Given the description of an element on the screen output the (x, y) to click on. 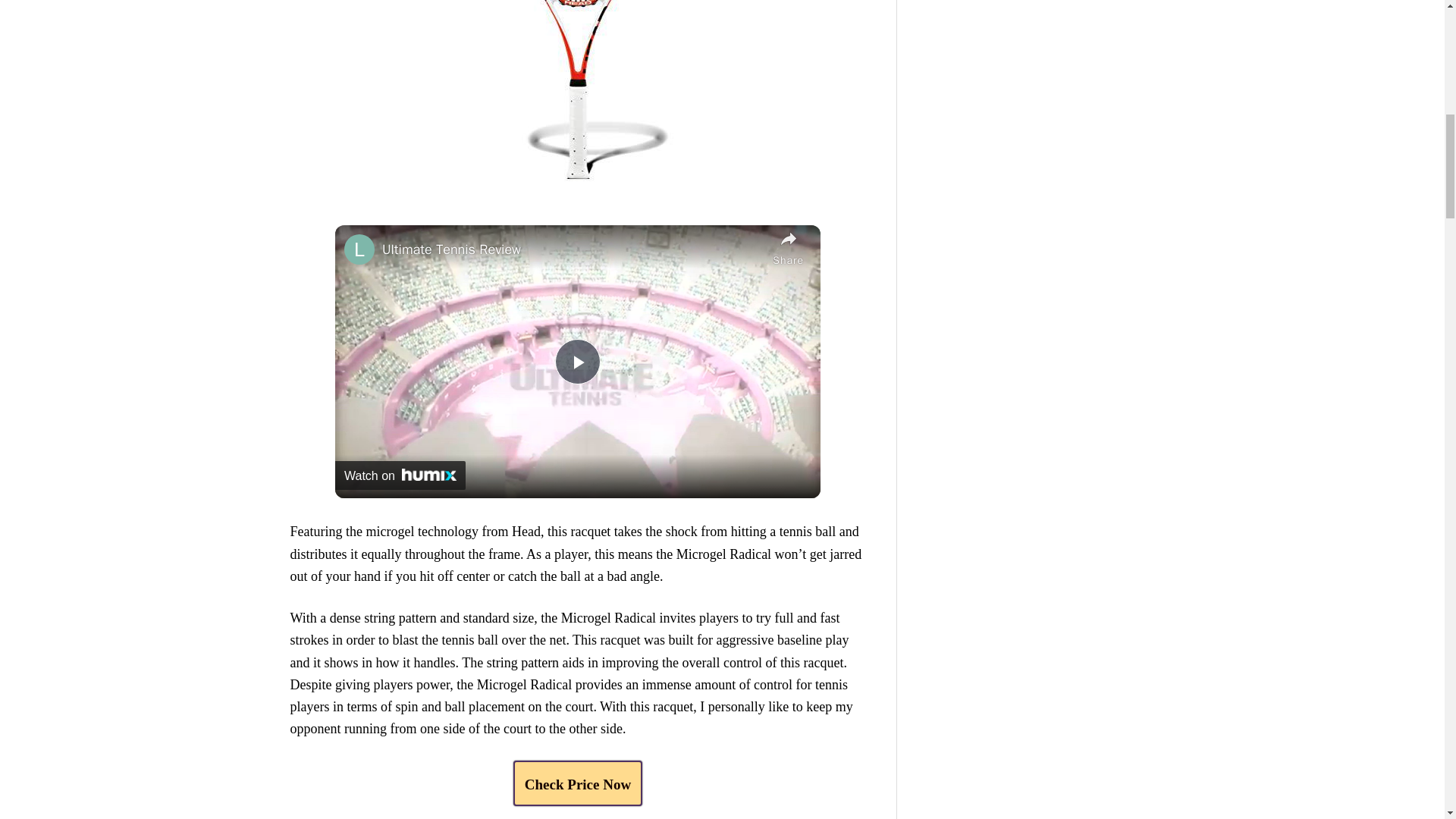
Ultimate Tennis Review (573, 250)
Play Video (576, 361)
Play Video (576, 361)
Watch on (399, 475)
Check Price Now (577, 782)
